Given the description of an element on the screen output the (x, y) to click on. 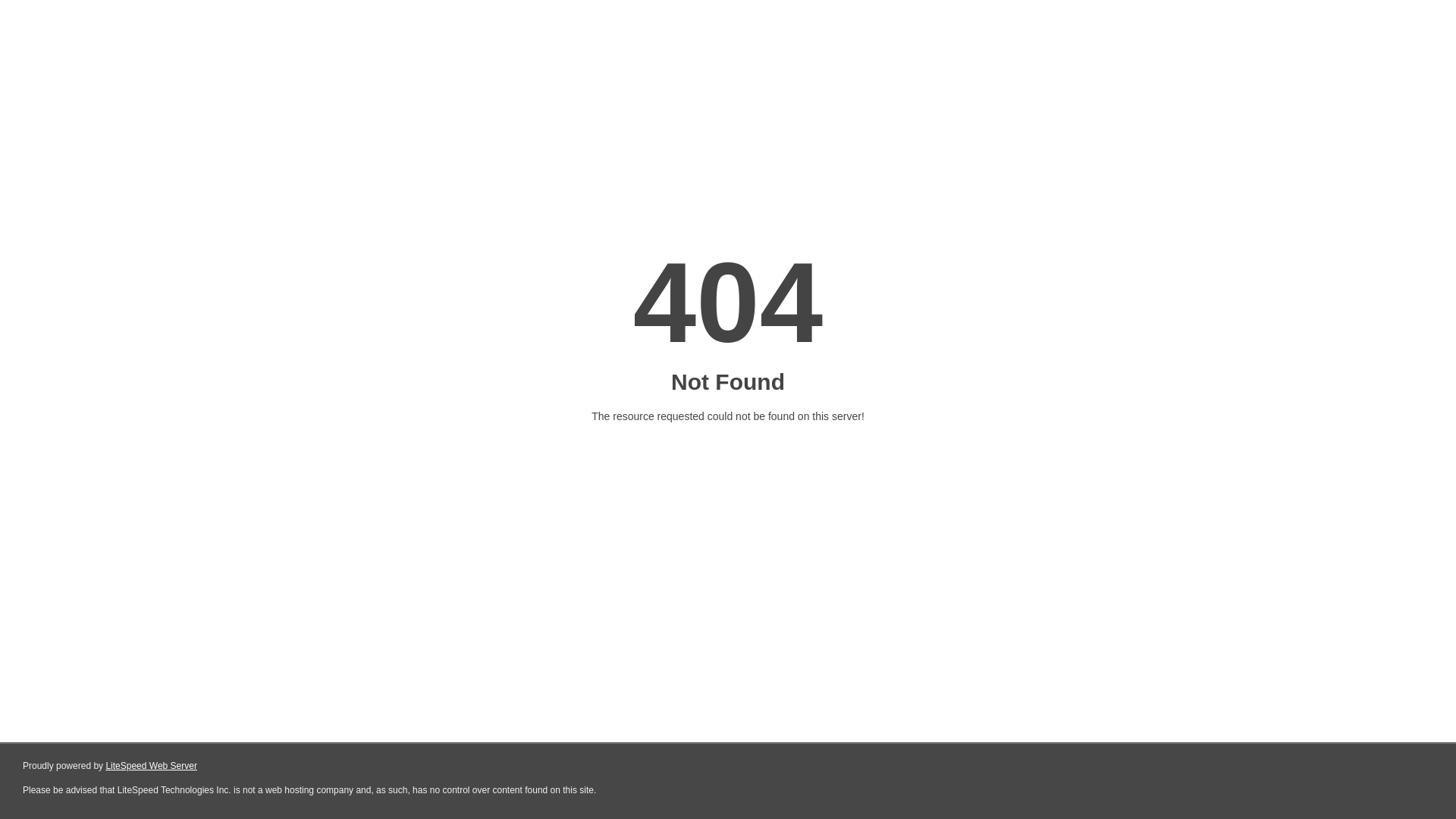
LiteSpeed Web Server Element type: text (151, 765)
